Given the description of an element on the screen output the (x, y) to click on. 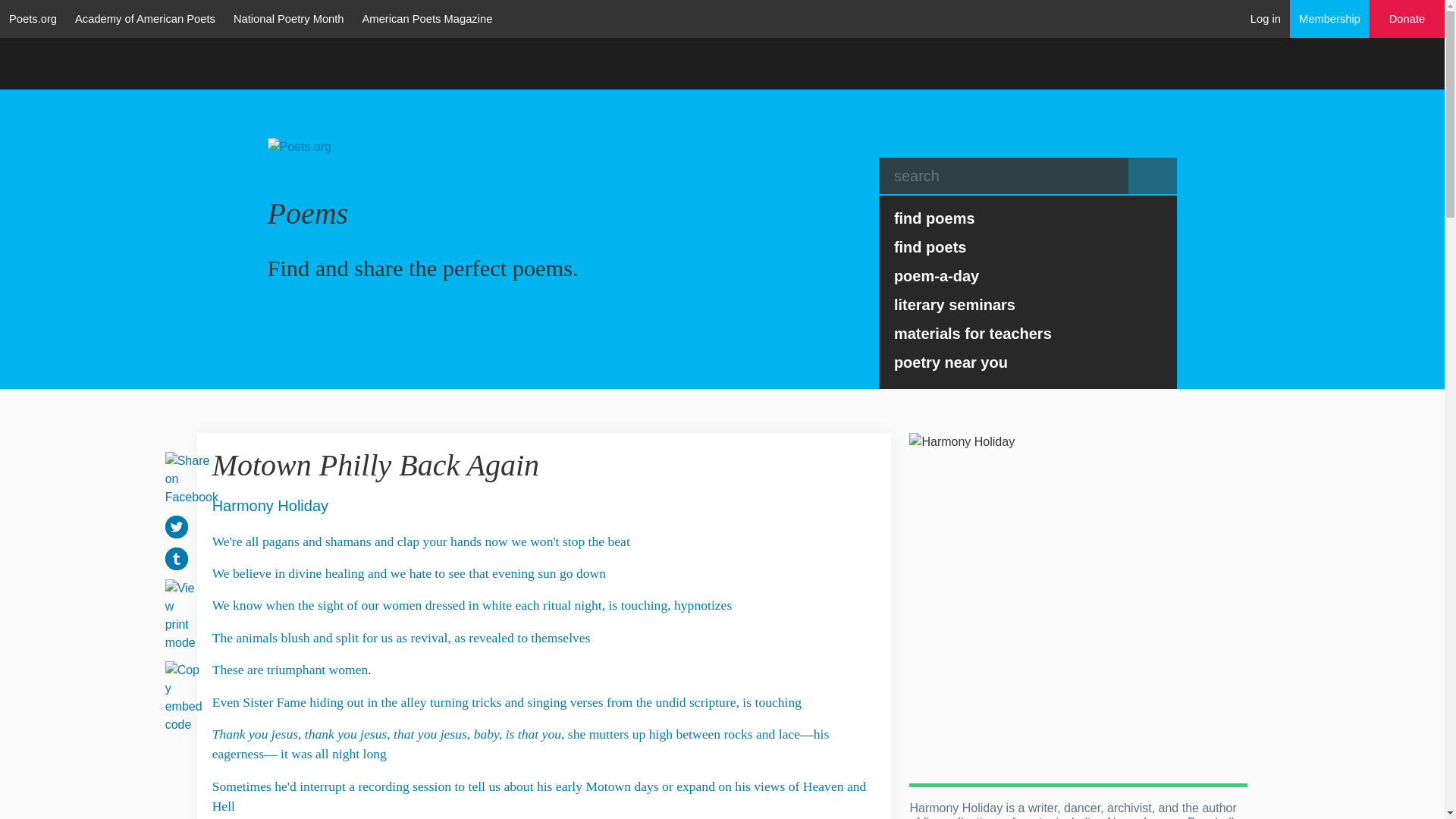
literary seminars (1028, 304)
Share on Facebook (191, 477)
poem-a-day (1028, 275)
Share on Twitter (176, 525)
See print mode in new window (180, 614)
Submit (1152, 176)
Support the mission of the Academy of American Poets (1407, 18)
materials for teachers (1028, 333)
clap your hands now we won't stop the beat (513, 540)
we hate to see that evening sun go down (497, 572)
Donate (1407, 18)
Harmony Holiday (270, 505)
Membership (1330, 18)
literary seminars (1028, 304)
Log in (1265, 18)
